Given the description of an element on the screen output the (x, y) to click on. 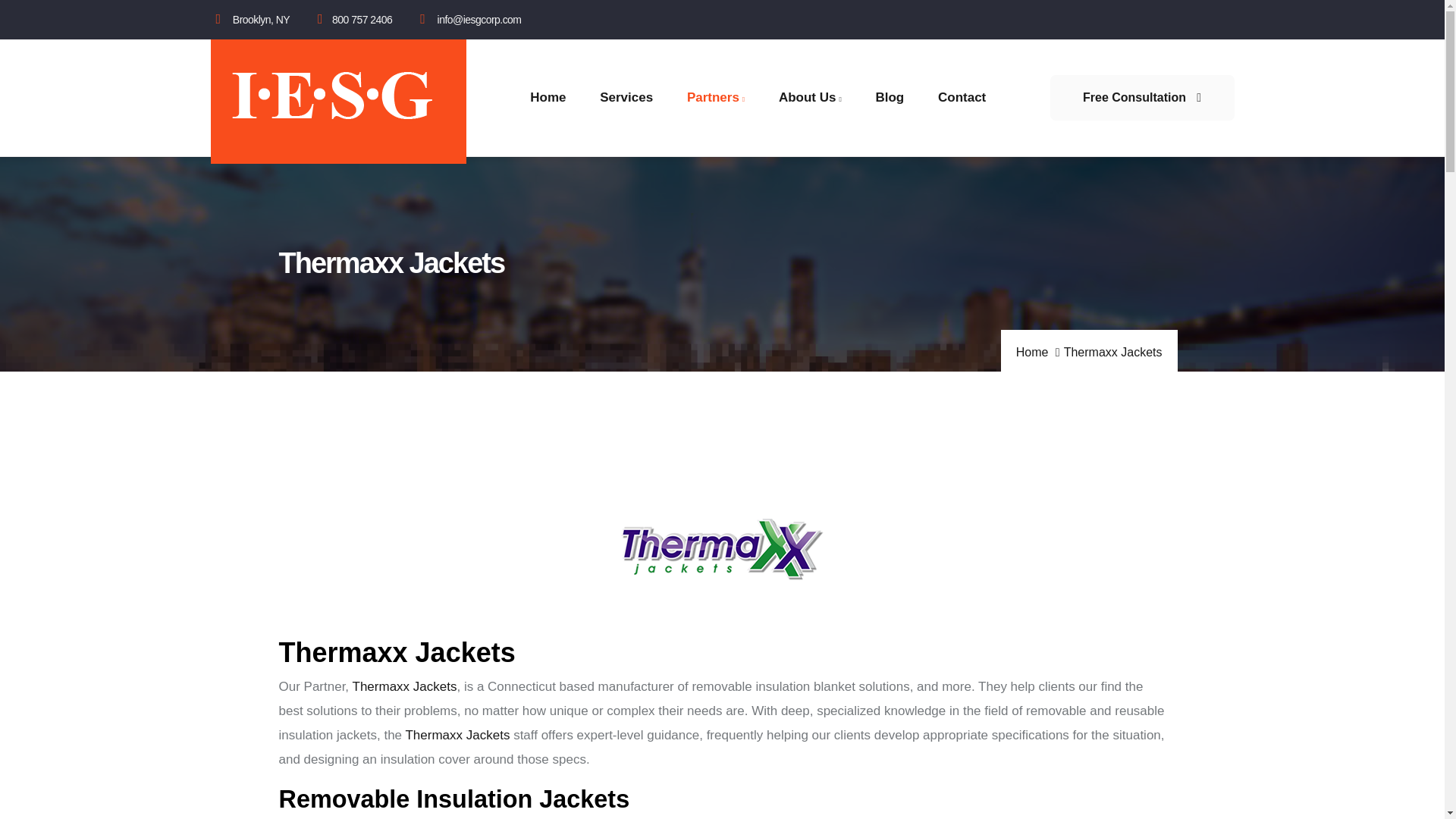
Thermaxx Jackets (404, 686)
Thermaxx Jackets (456, 735)
About Us (809, 97)
Free Consultation (1141, 97)
Thermaxx Jackets (456, 735)
Thermaxx Jackets (404, 686)
Partners (715, 97)
Services (626, 97)
Contact (962, 97)
Home (338, 101)
